Given the description of an element on the screen output the (x, y) to click on. 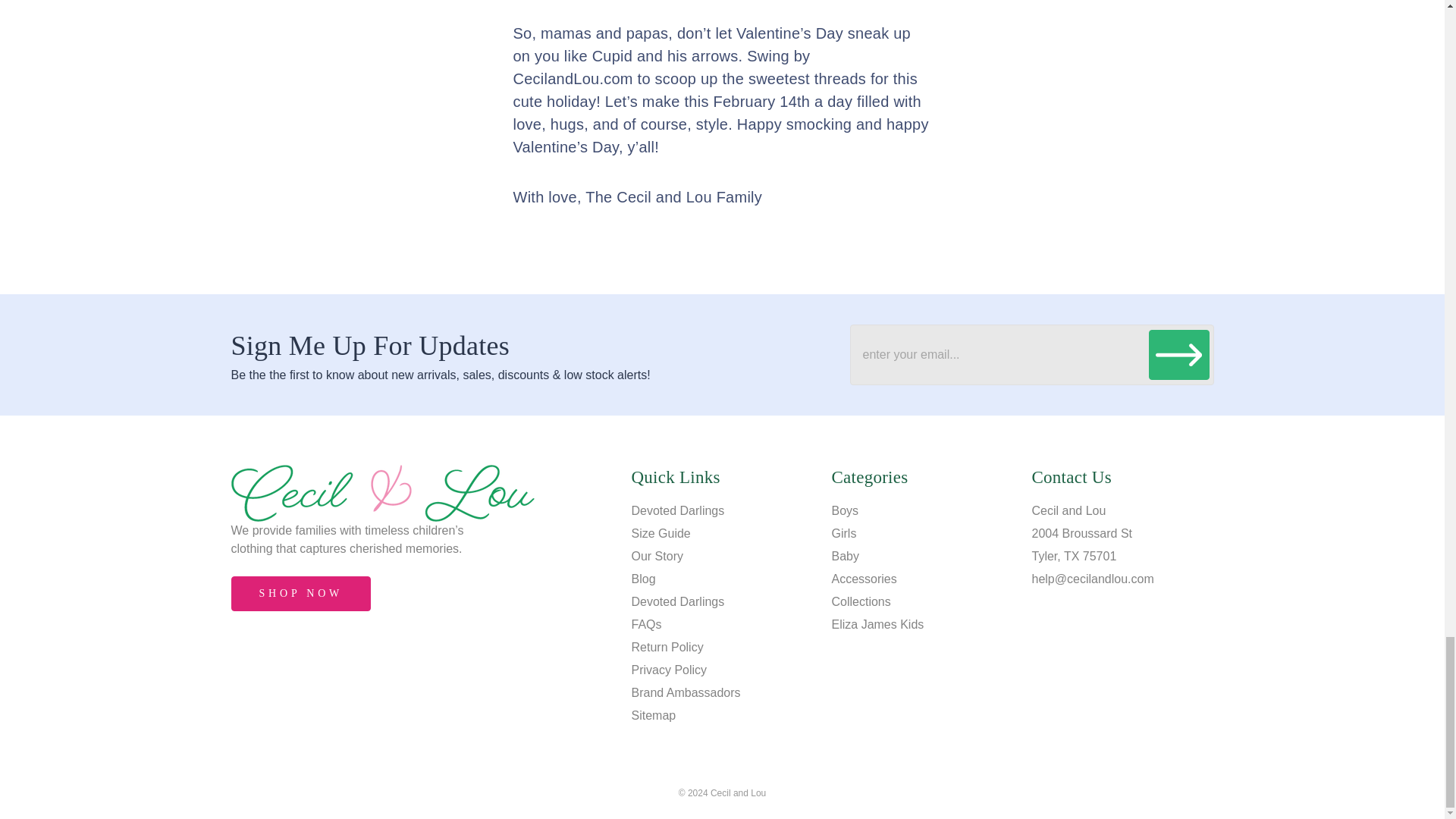
Cecil and Lou (382, 493)
Subscribe (1178, 355)
